Given the description of an element on the screen output the (x, y) to click on. 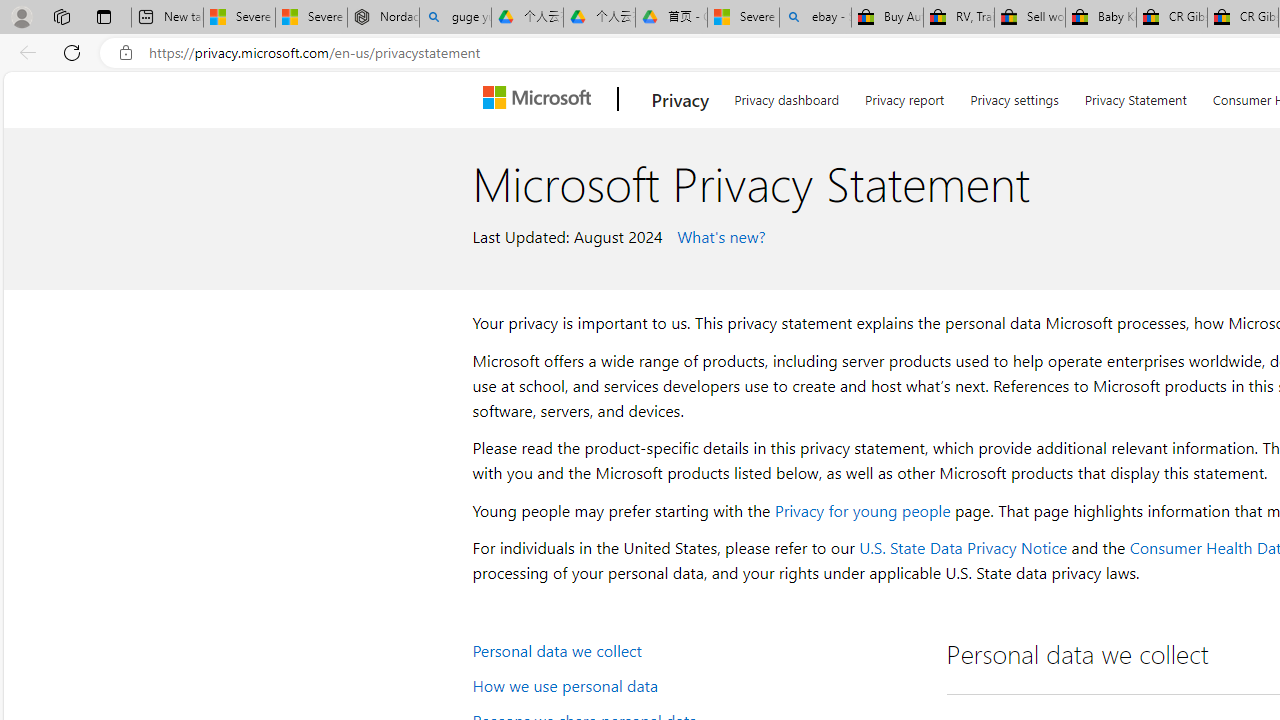
Privacy dashboard (786, 96)
Privacy (680, 99)
Privacy dashboard (786, 96)
Privacy settings (1014, 96)
How we use personal data (696, 684)
 What's new? (718, 235)
